Given the description of an element on the screen output the (x, y) to click on. 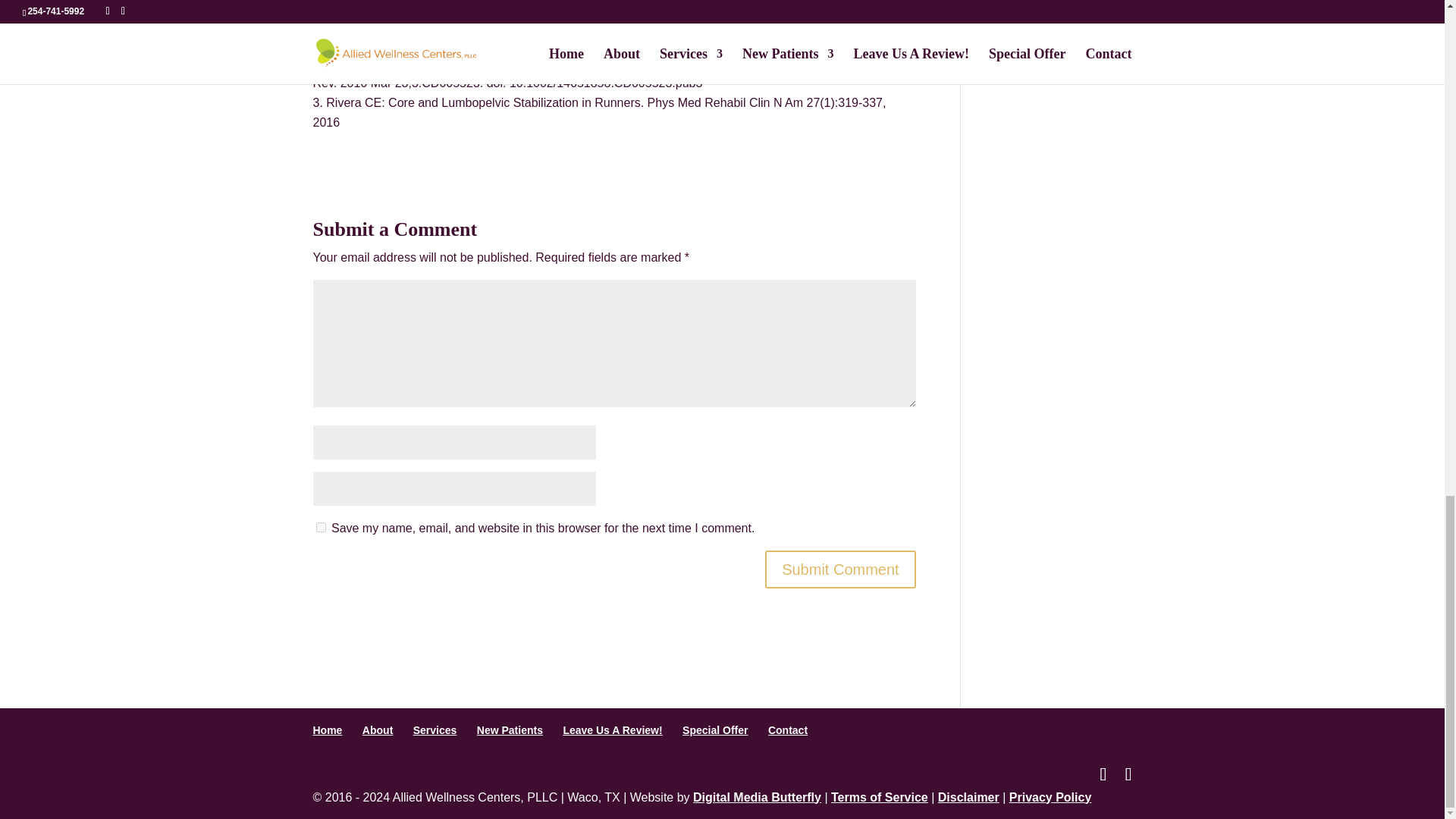
Submit Comment (840, 569)
Website Designer (757, 797)
yes (319, 527)
